Given the description of an element on the screen output the (x, y) to click on. 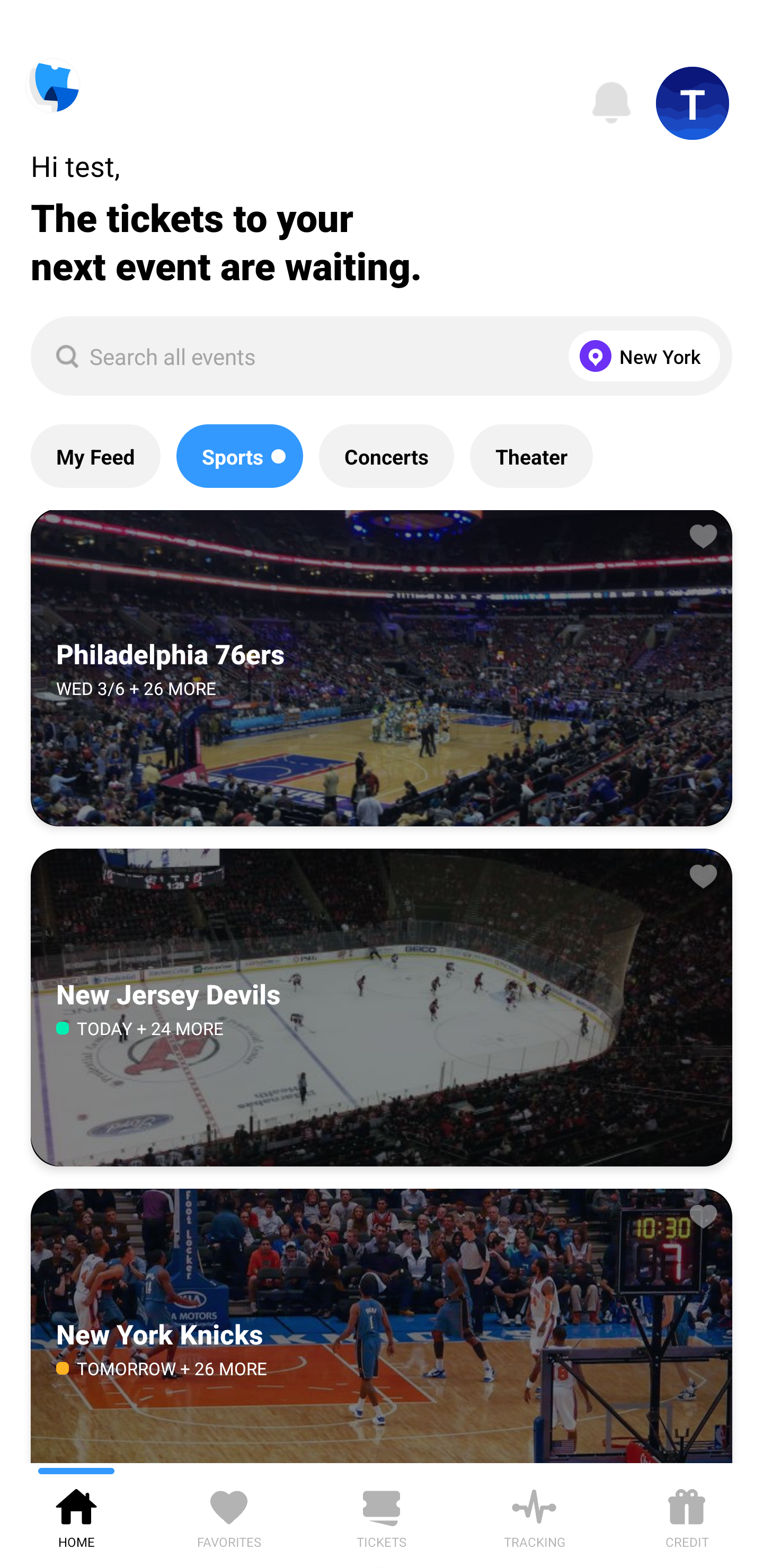
T (692, 103)
New York (640, 355)
My Feed (95, 455)
Sports (239, 455)
Concerts (385, 455)
Theater (531, 455)
HOME (76, 1515)
FAVORITES (228, 1515)
TICKETS (381, 1515)
TRACKING (533, 1515)
CREDIT (686, 1515)
